Given the description of an element on the screen output the (x, y) to click on. 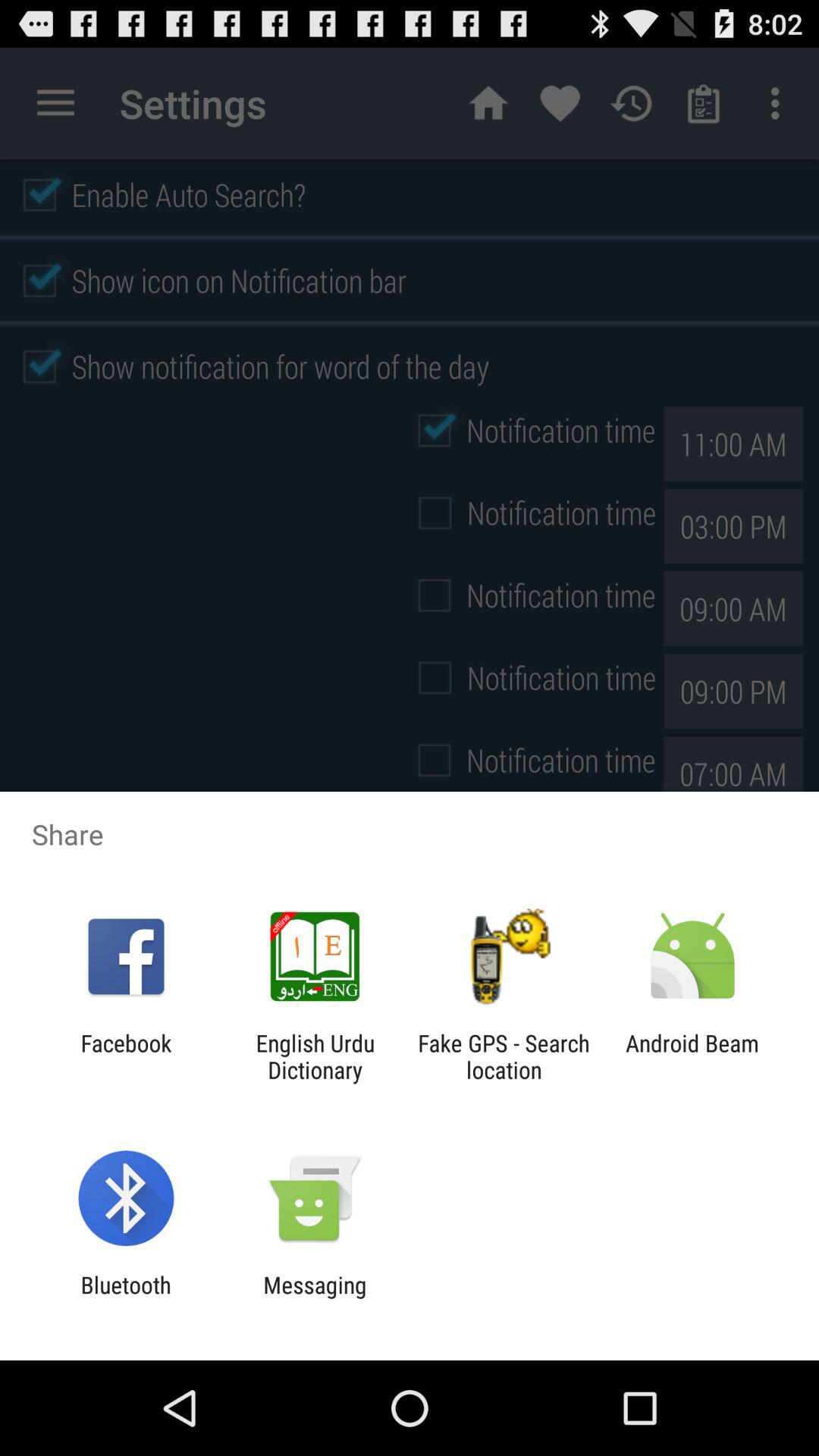
launch the app to the right of facebook icon (314, 1056)
